Given the description of an element on the screen output the (x, y) to click on. 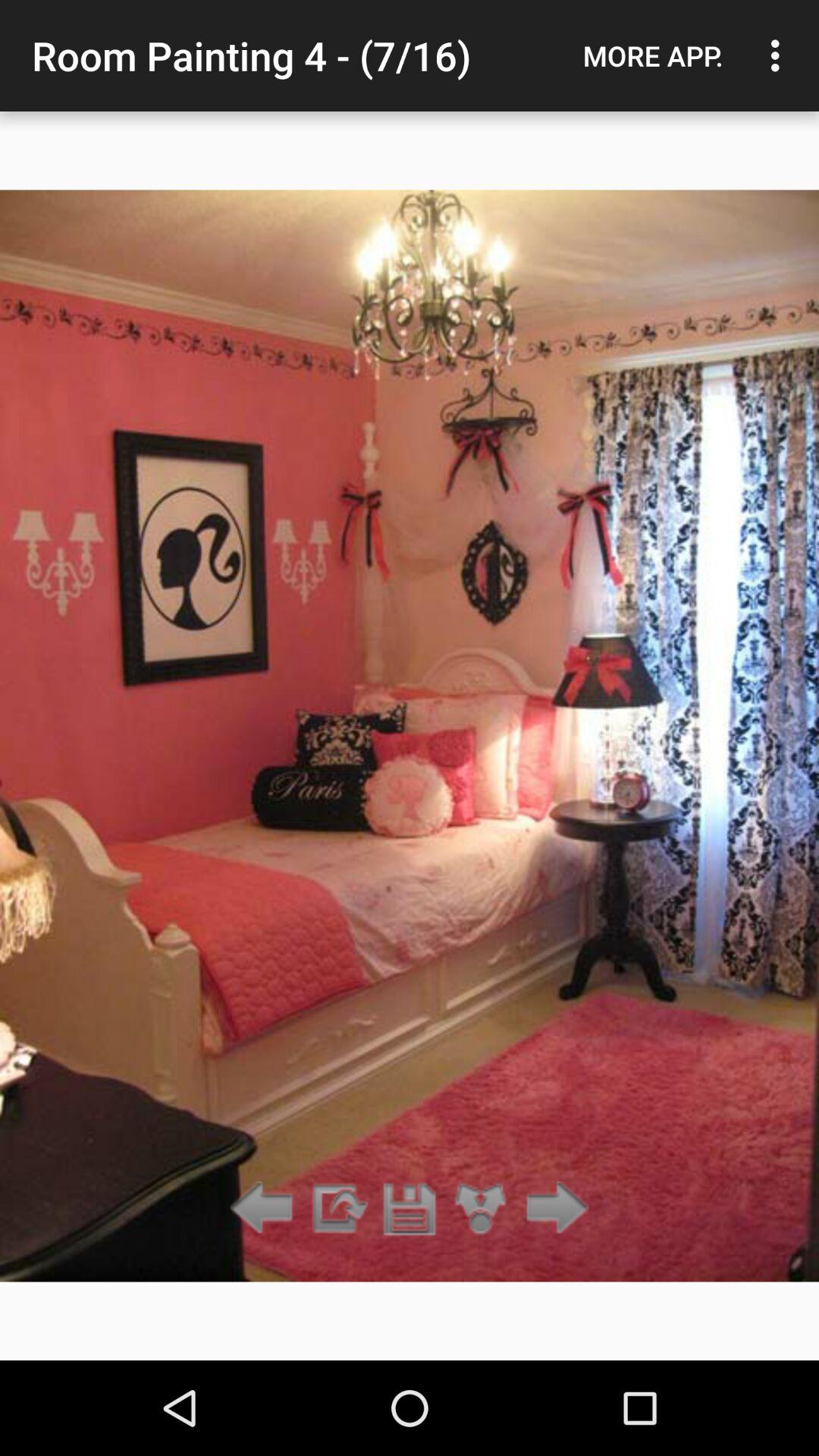
view next item (552, 1209)
